Given the description of an element on the screen output the (x, y) to click on. 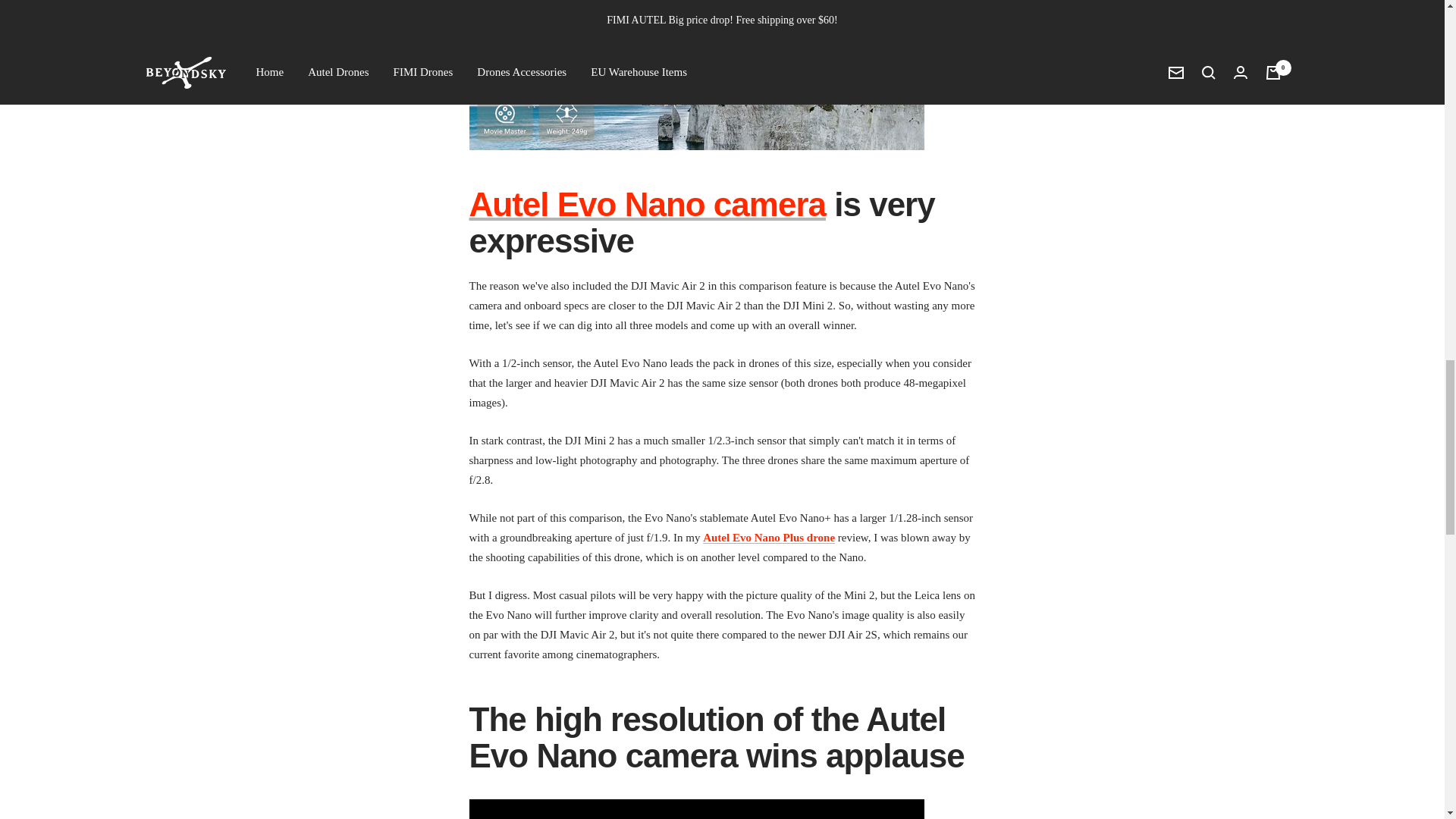
Autel Evo Nano camera (646, 203)
autel evo nano camera drone (646, 203)
Autel Evo Nano Plus drone (768, 537)
